Given the description of an element on the screen output the (x, y) to click on. 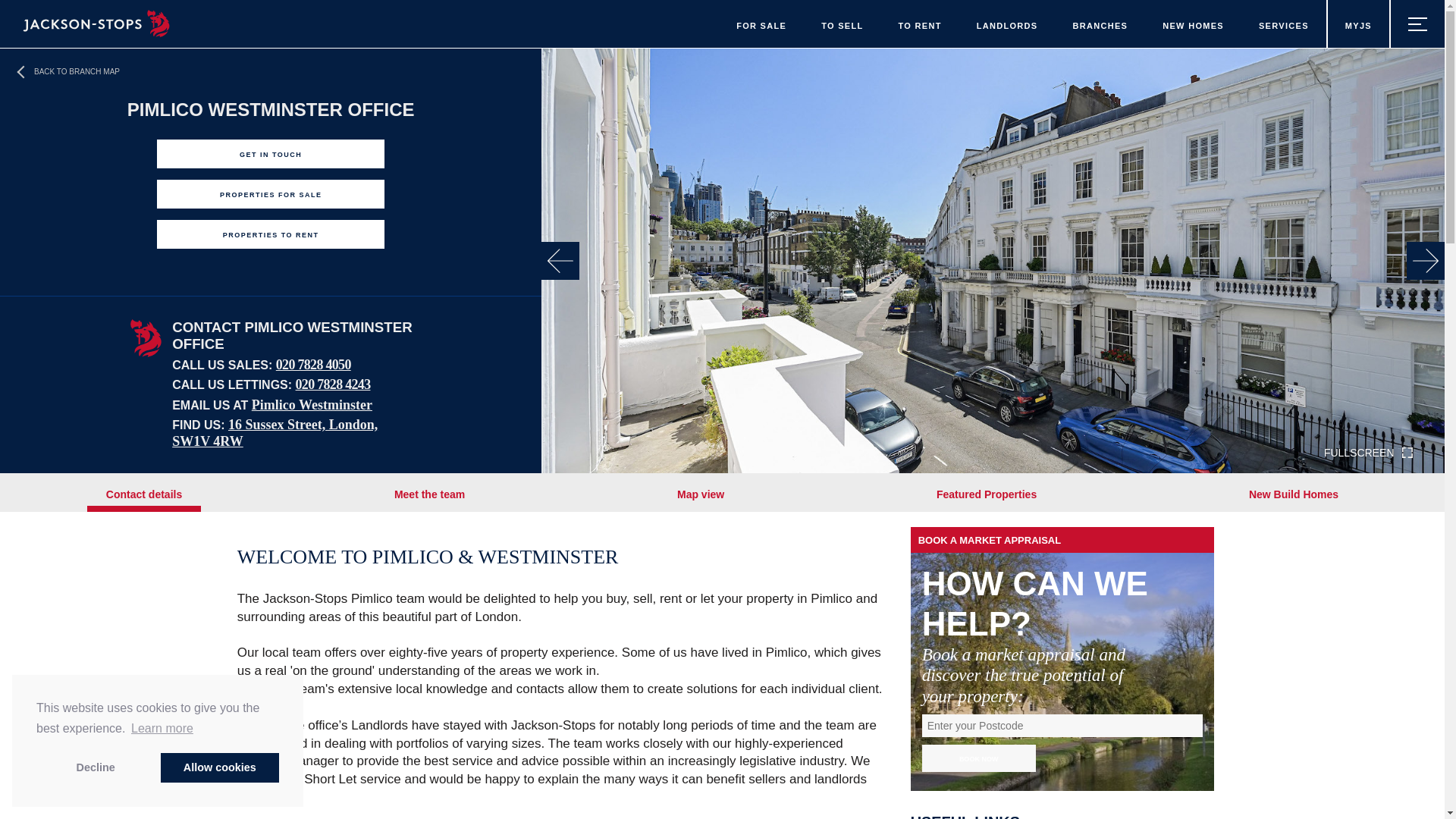
Decline (95, 767)
Branches (1099, 23)
SERVICES (1283, 23)
To Sell (841, 23)
FOR SALE (761, 23)
Featured Properties (986, 492)
To Rent (919, 23)
BRANCHES (1099, 23)
MYJS (1357, 23)
Meet the team (429, 492)
LANDLORDS (1007, 23)
Landlords (1007, 23)
TO SELL (841, 23)
My Jackson-Stops (1357, 23)
Map view (700, 492)
